Given the description of an element on the screen output the (x, y) to click on. 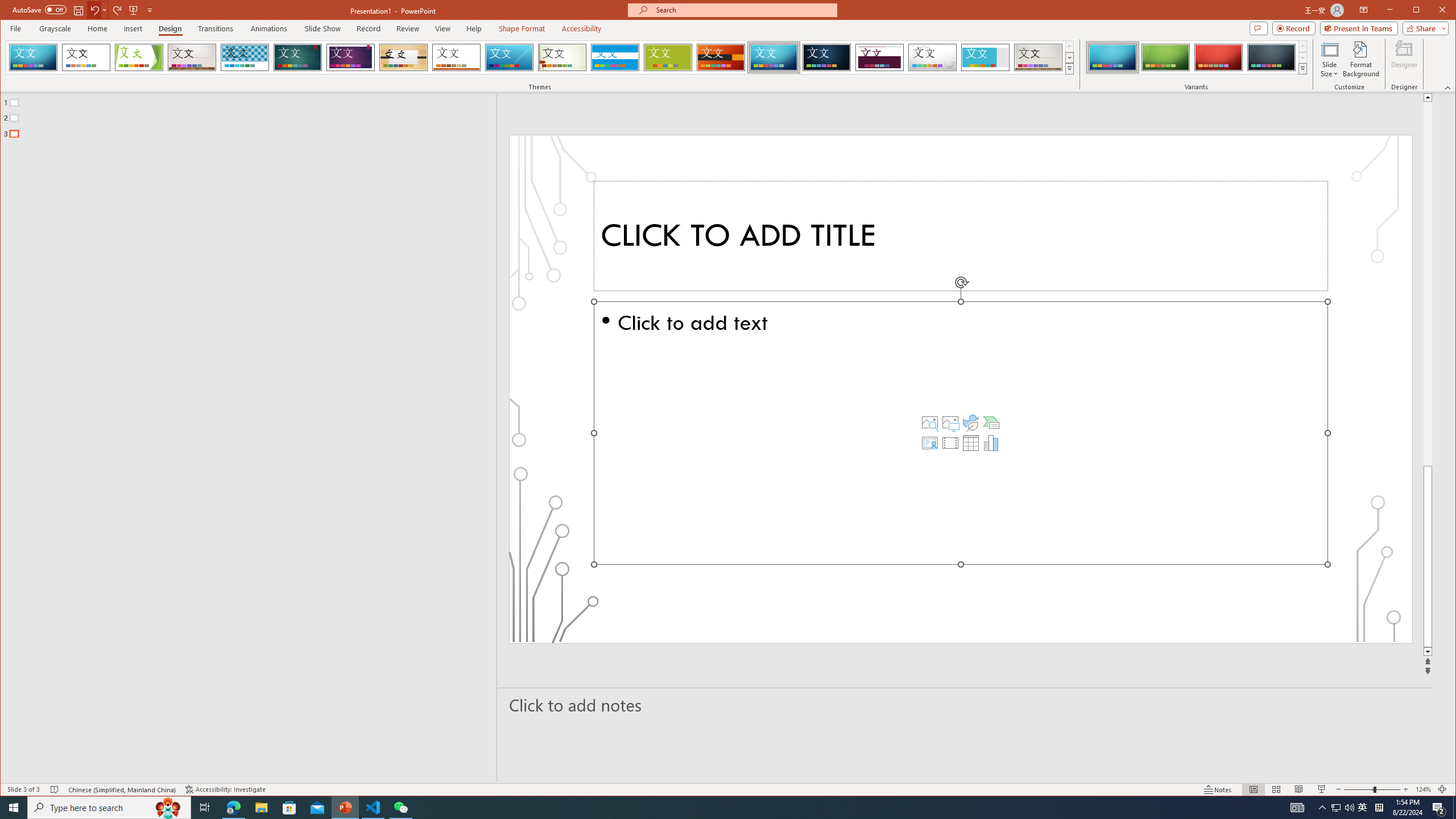
Wisp (561, 57)
AutomationID: SlideThemesGallery (540, 57)
Droplet (932, 57)
